Given the description of an element on the screen output the (x, y) to click on. 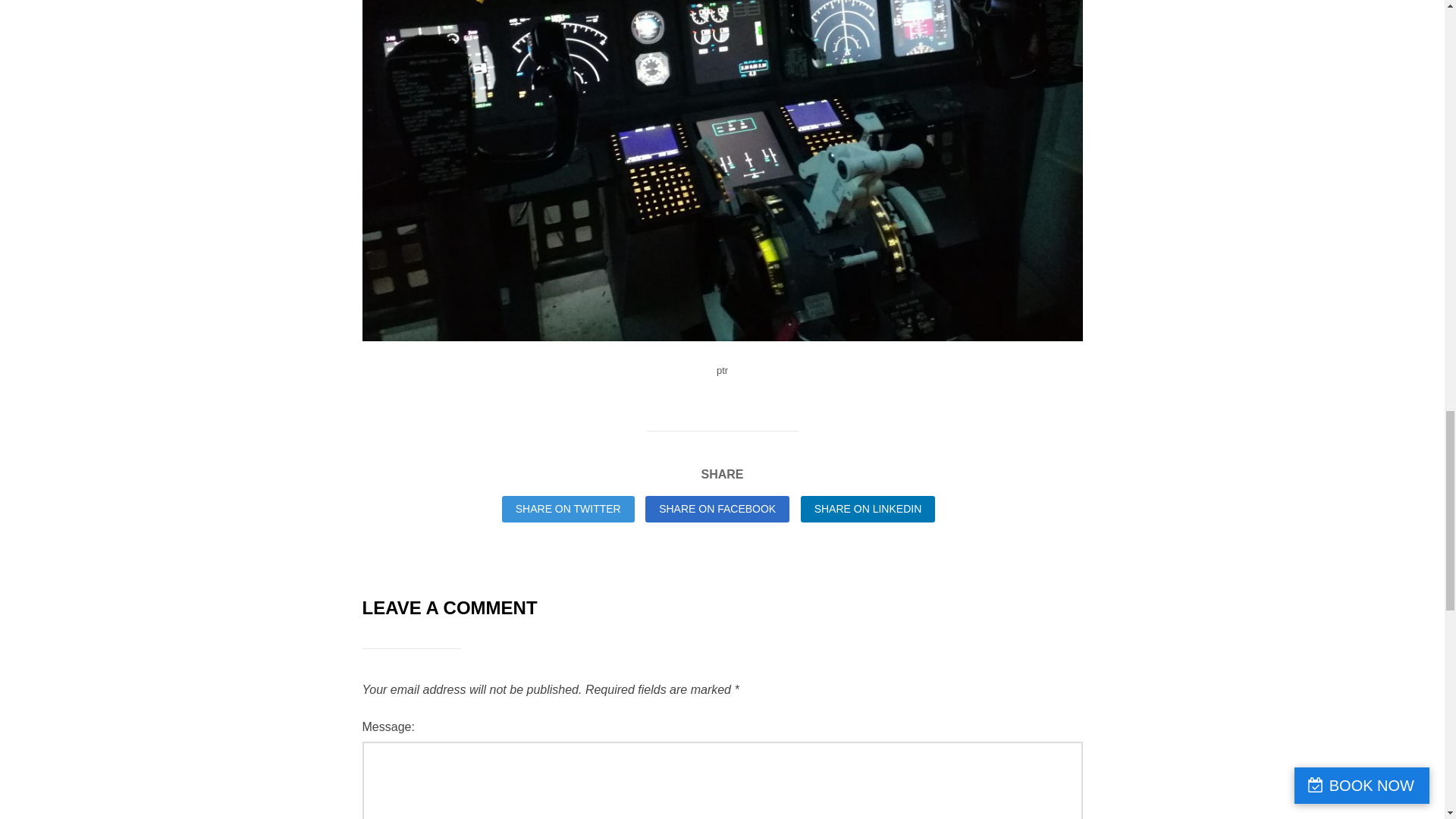
Tweet this on Twitter (568, 509)
Share this on Facebook (717, 509)
Share on LinkedIn (868, 509)
